Given the description of an element on the screen output the (x, y) to click on. 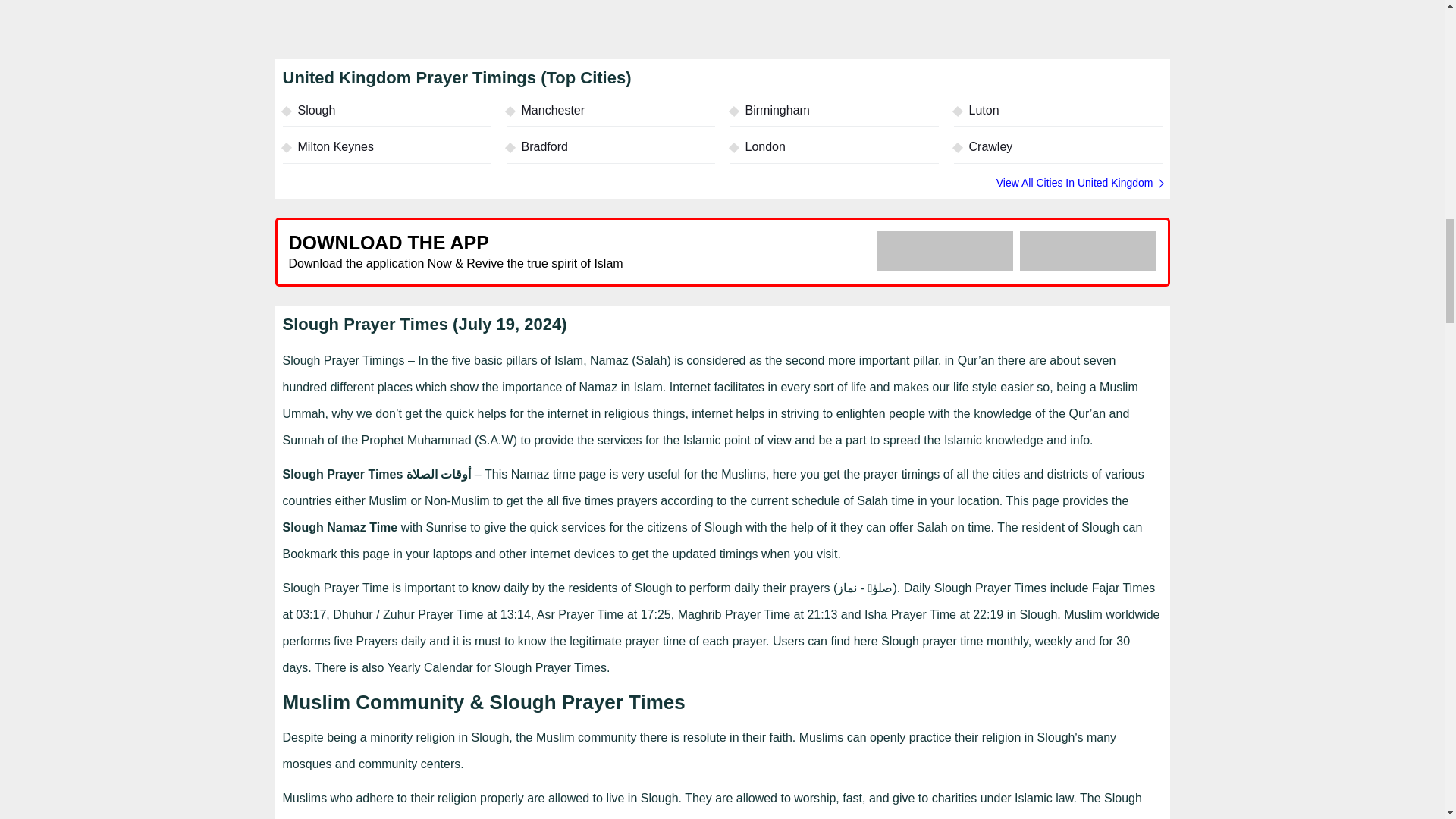
Slough (386, 113)
Manchester (610, 113)
Apply Store (1087, 250)
Google Play Store (944, 250)
